Given the description of an element on the screen output the (x, y) to click on. 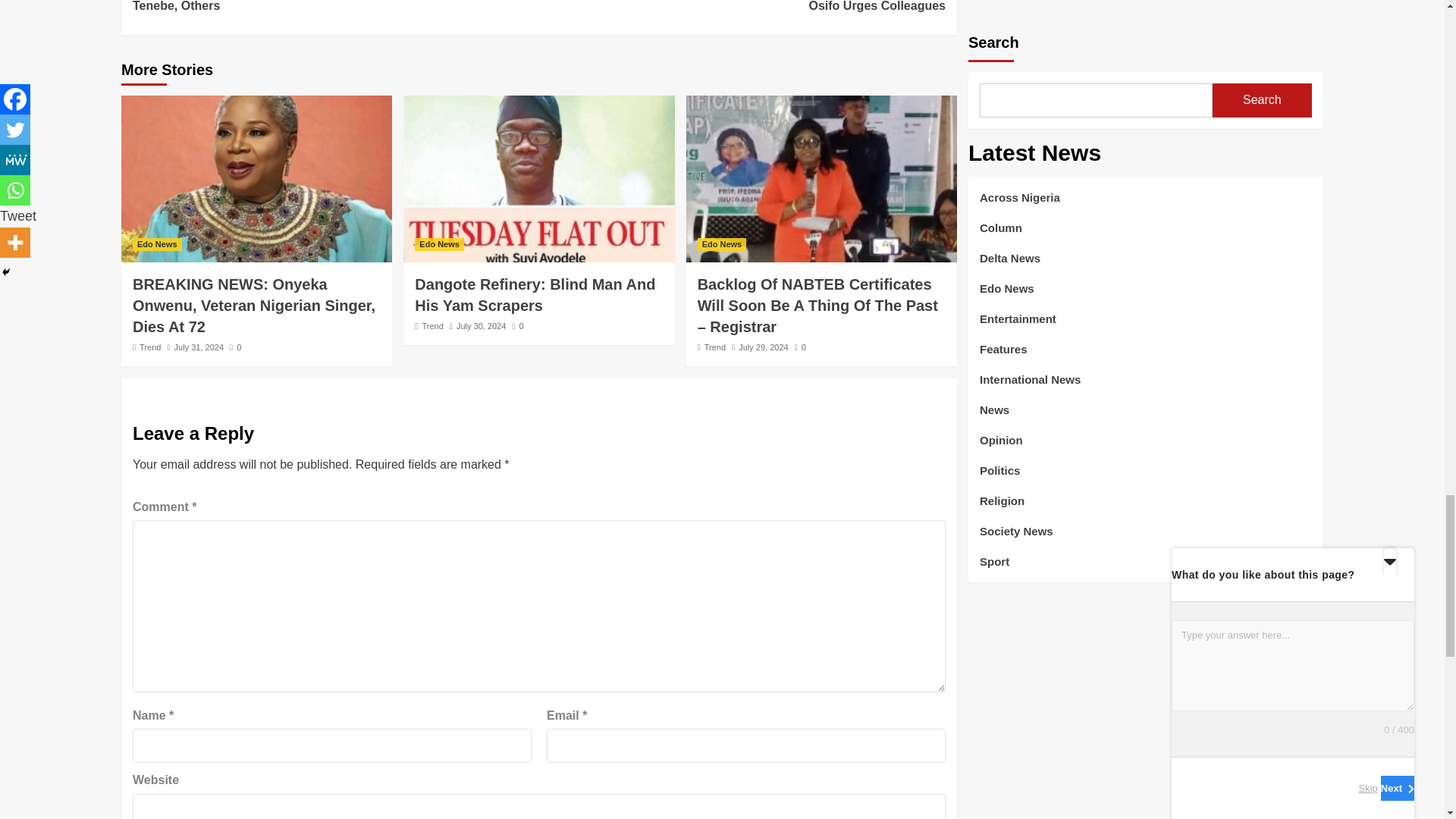
Trend (149, 347)
Edo News (157, 244)
